Given the description of an element on the screen output the (x, y) to click on. 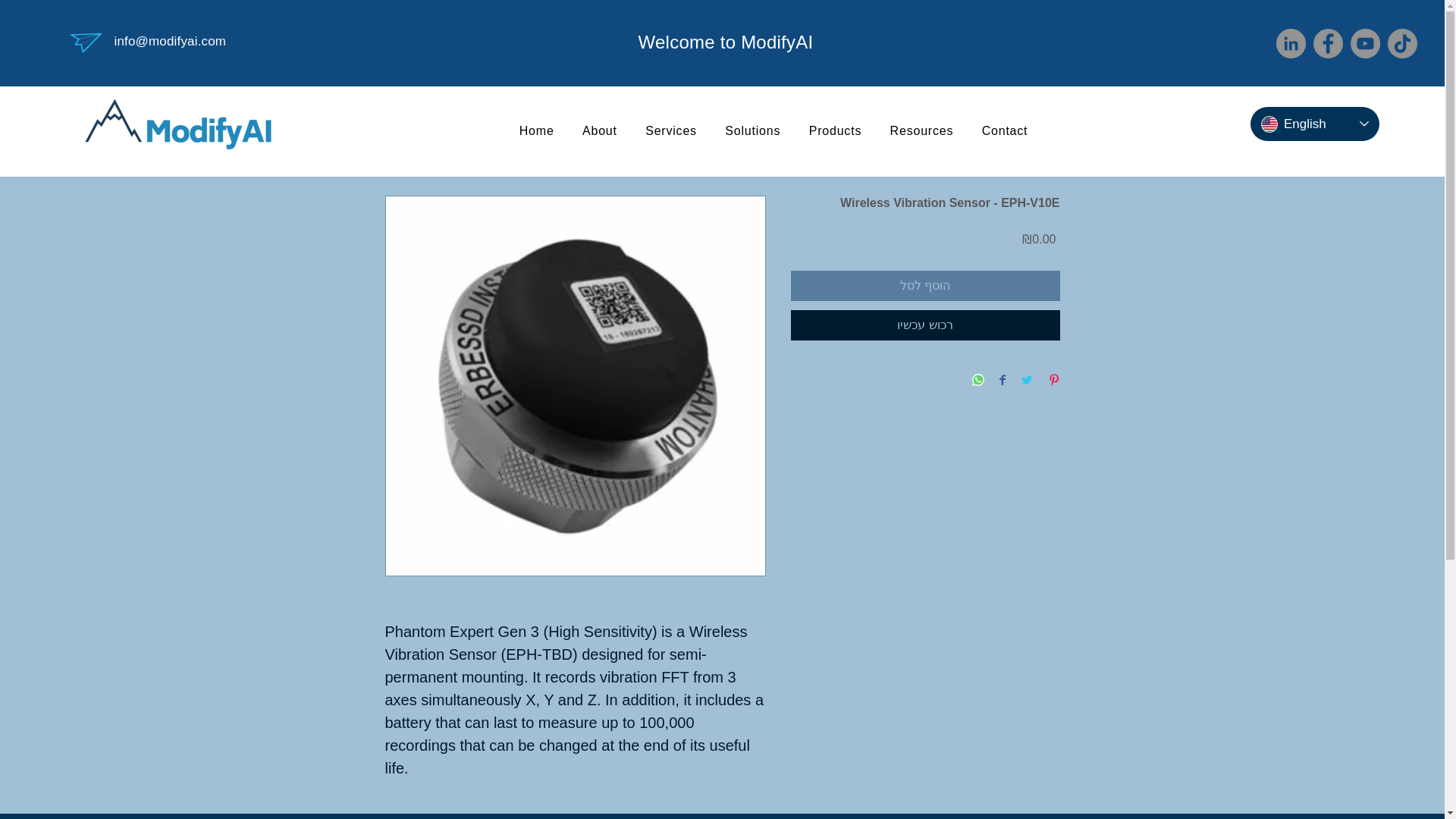
Products (834, 131)
Solutions (773, 131)
Contact (753, 131)
Home (1005, 131)
About (536, 131)
Services (598, 131)
